Given the description of an element on the screen output the (x, y) to click on. 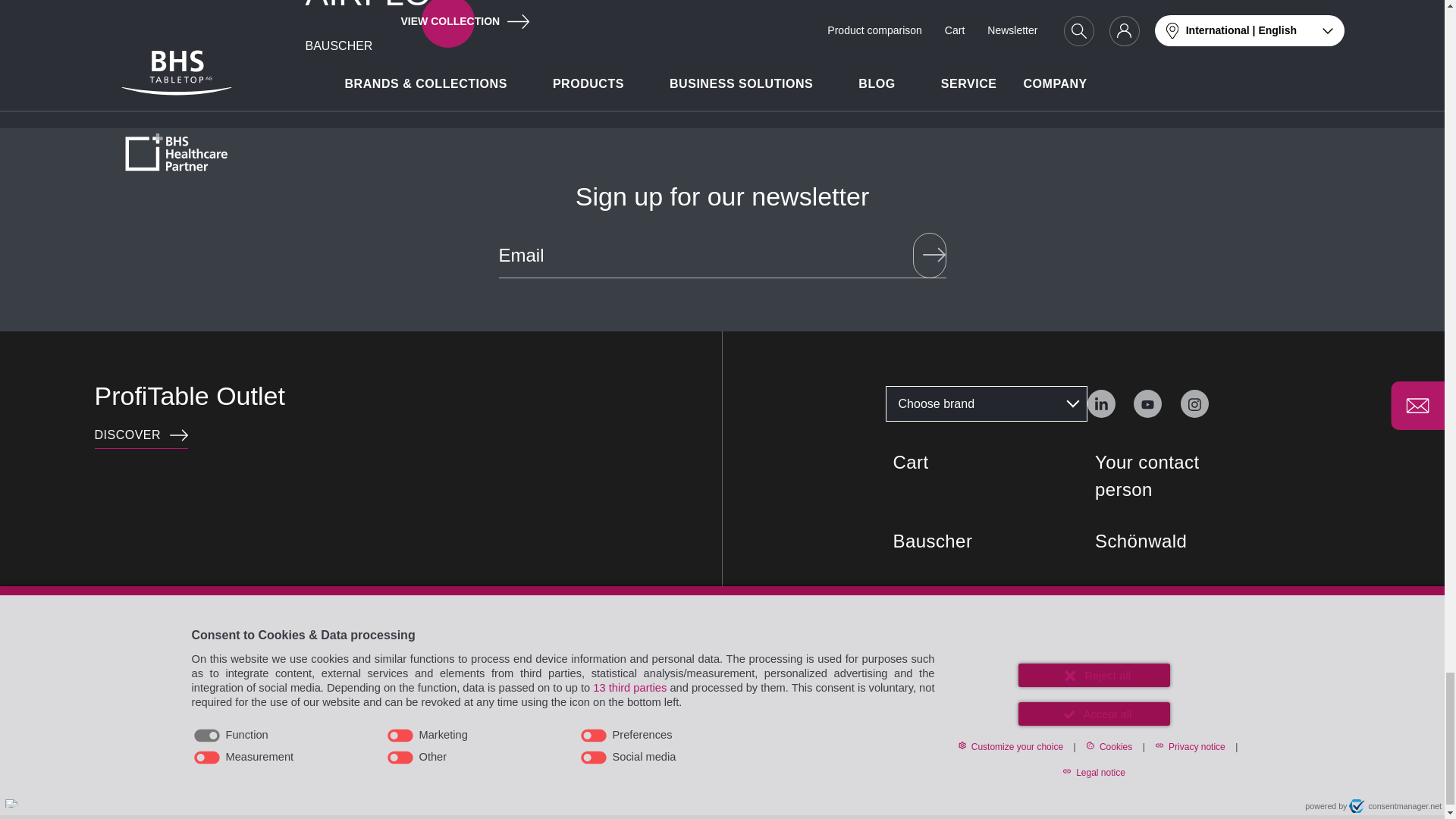
YouTube (1147, 403)
Instagram (1100, 402)
LinkedIn (1101, 403)
Instagram (1194, 403)
ProfiTable Outlet (140, 435)
